Given the description of an element on the screen output the (x, y) to click on. 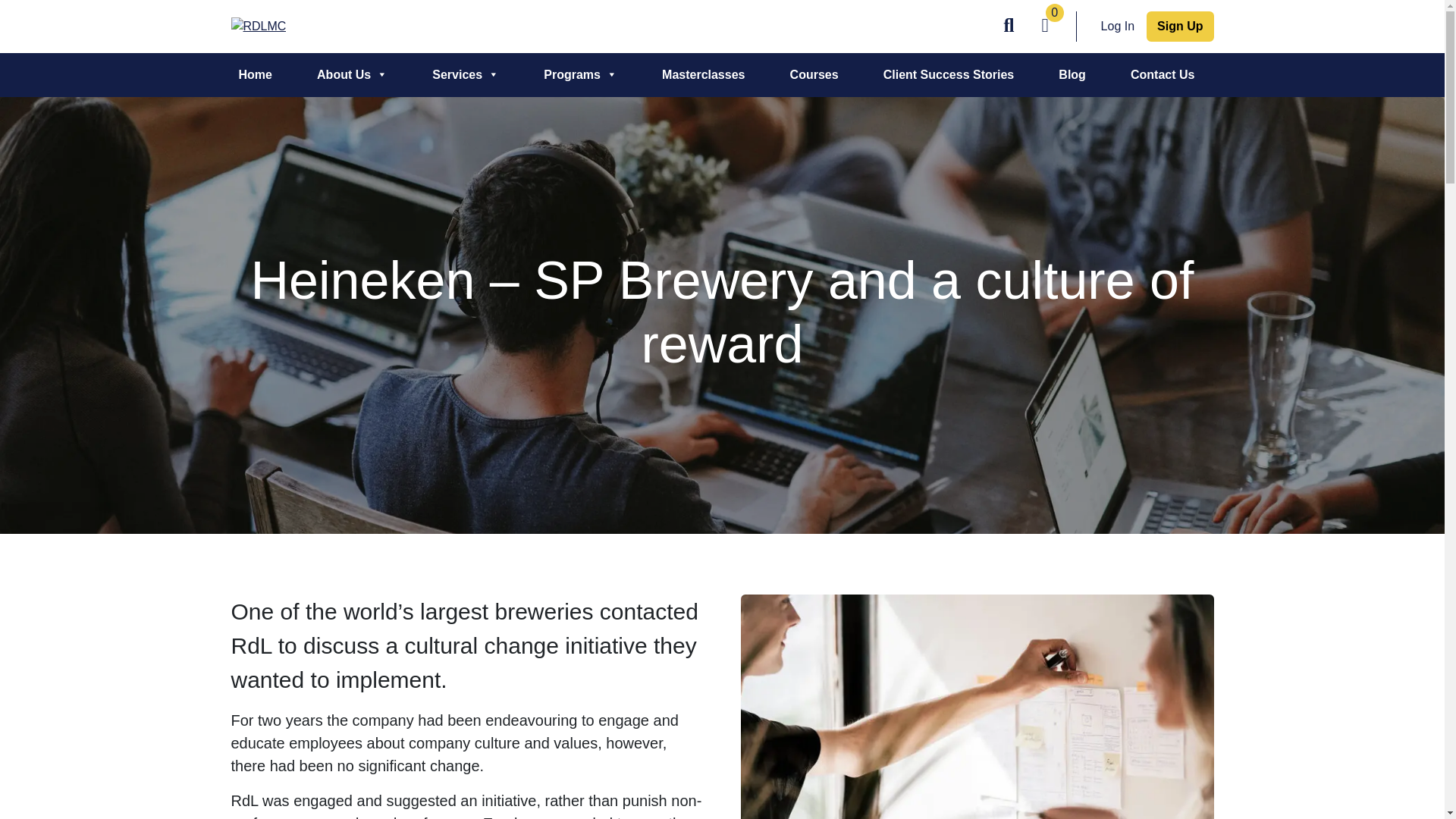
Sign Up (1179, 26)
Home (254, 75)
Blog (1072, 75)
Services (465, 75)
Courses (814, 75)
About Us (351, 75)
Client Success Stories (949, 75)
Programs (579, 75)
Log In (1117, 25)
0 (1051, 27)
